Given the description of an element on the screen output the (x, y) to click on. 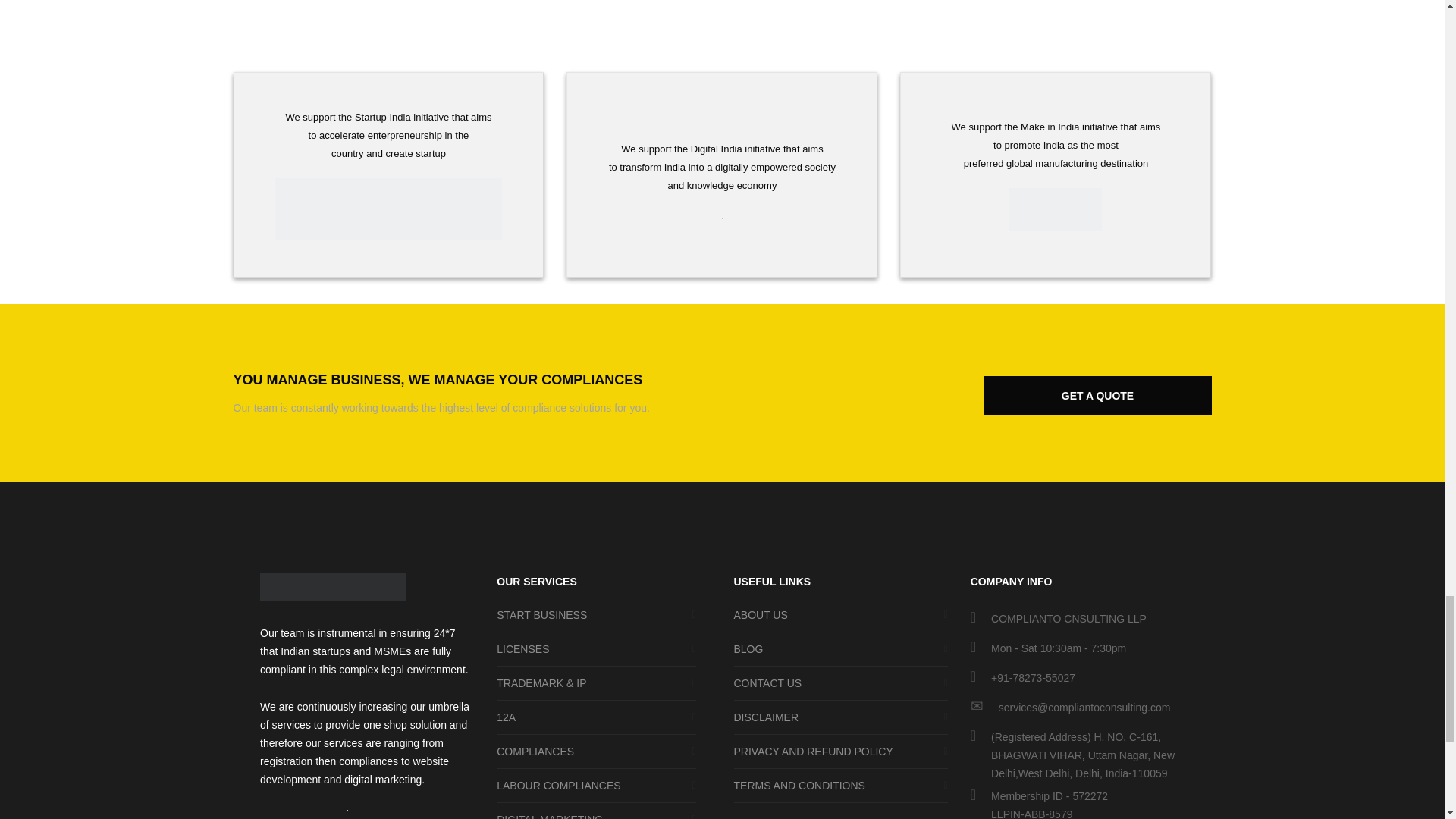
Logo1 (388, 209)
mii (1055, 209)
Layer-12 (333, 586)
